Given the description of an element on the screen output the (x, y) to click on. 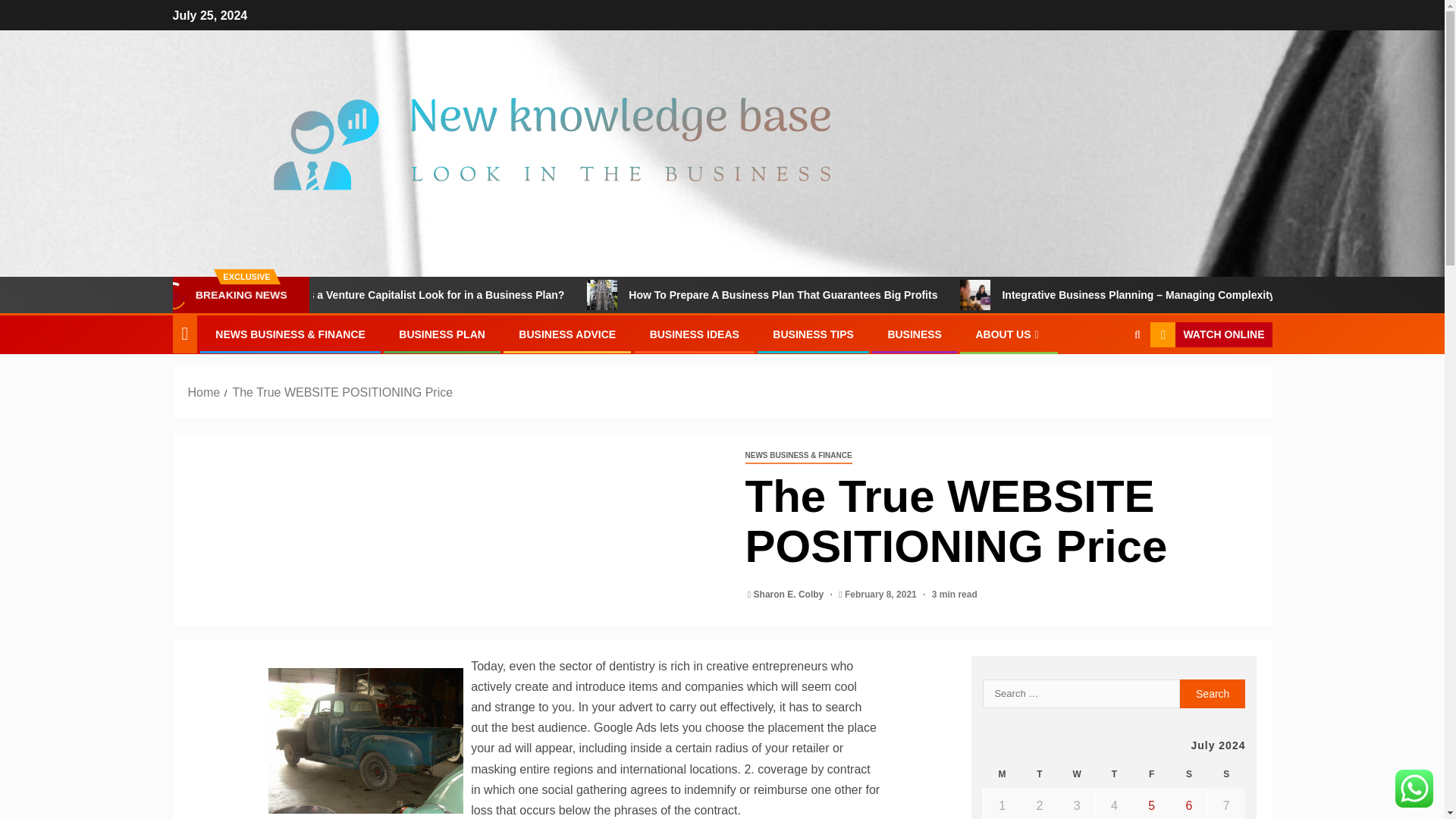
ABOUT US (1008, 334)
What Does a Venture Capitalist Look for in a Business Plan? (497, 295)
Search (1136, 334)
How To Prepare A Business Plan That Guarantees Big Profits (867, 295)
Sharon E. Colby (790, 593)
BUSINESS IDEAS (694, 334)
BUSINESS ADVICE (566, 334)
What Does a Venture Capitalist Look for in a Business Plan? (303, 295)
BUSINESS PLAN (441, 334)
WATCH ONLINE (1210, 335)
Search (1107, 380)
Search (1212, 693)
BUSINESS (914, 334)
BUSINESS TIPS (813, 334)
Search (1212, 693)
